Given the description of an element on the screen output the (x, y) to click on. 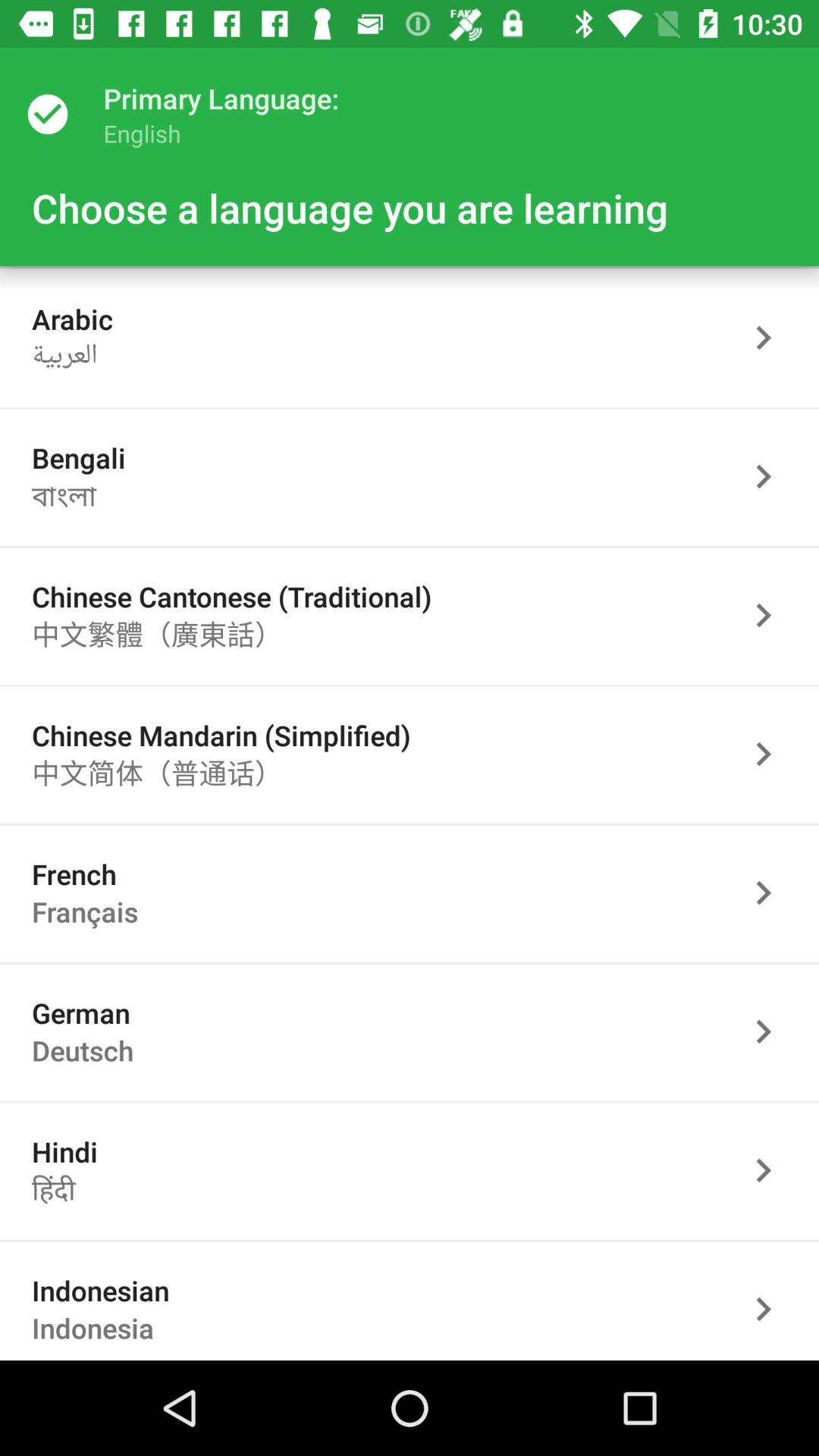
select language (771, 753)
